Given the description of an element on the screen output the (x, y) to click on. 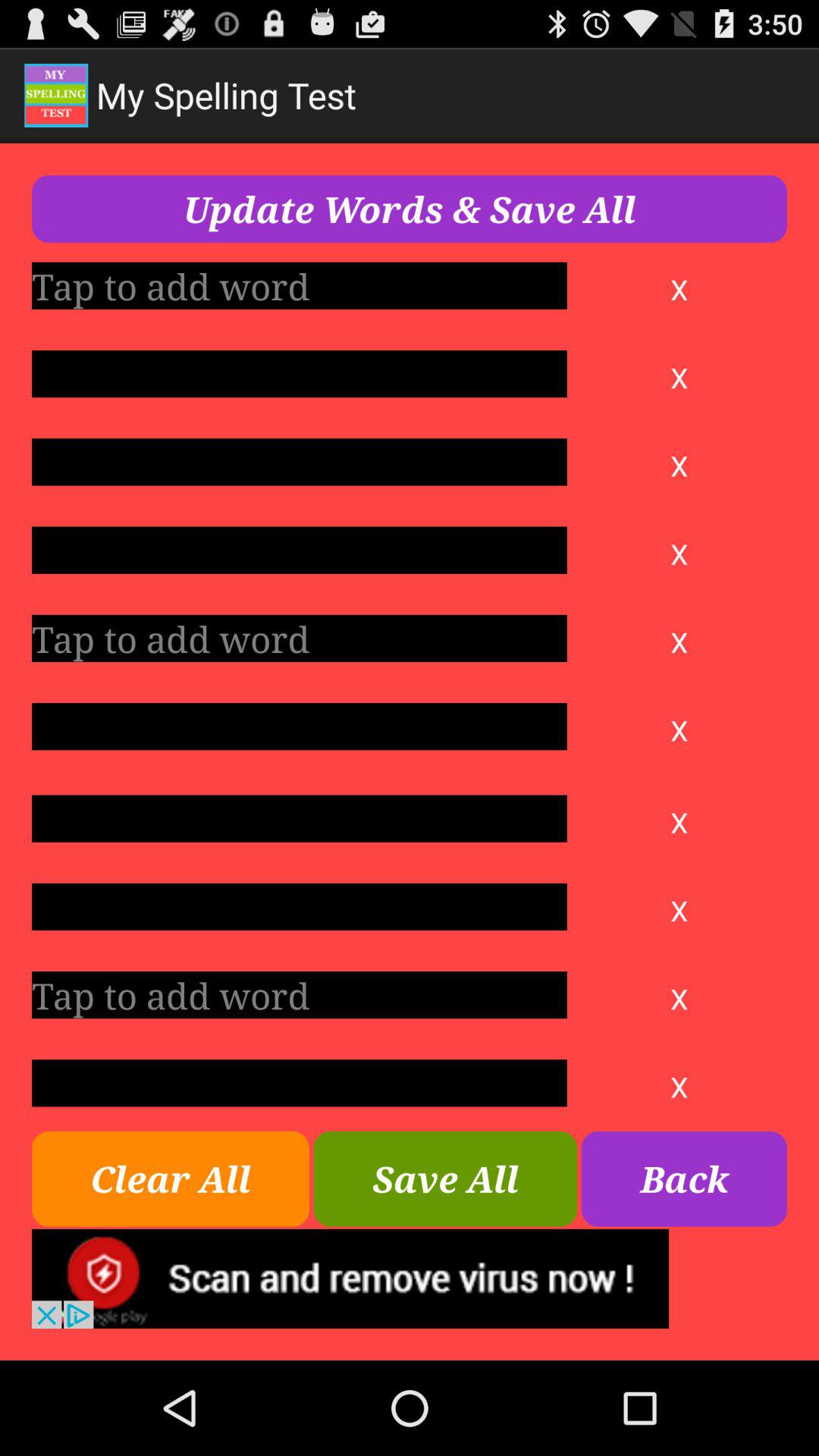
go to search box (299, 906)
